Given the description of an element on the screen output the (x, y) to click on. 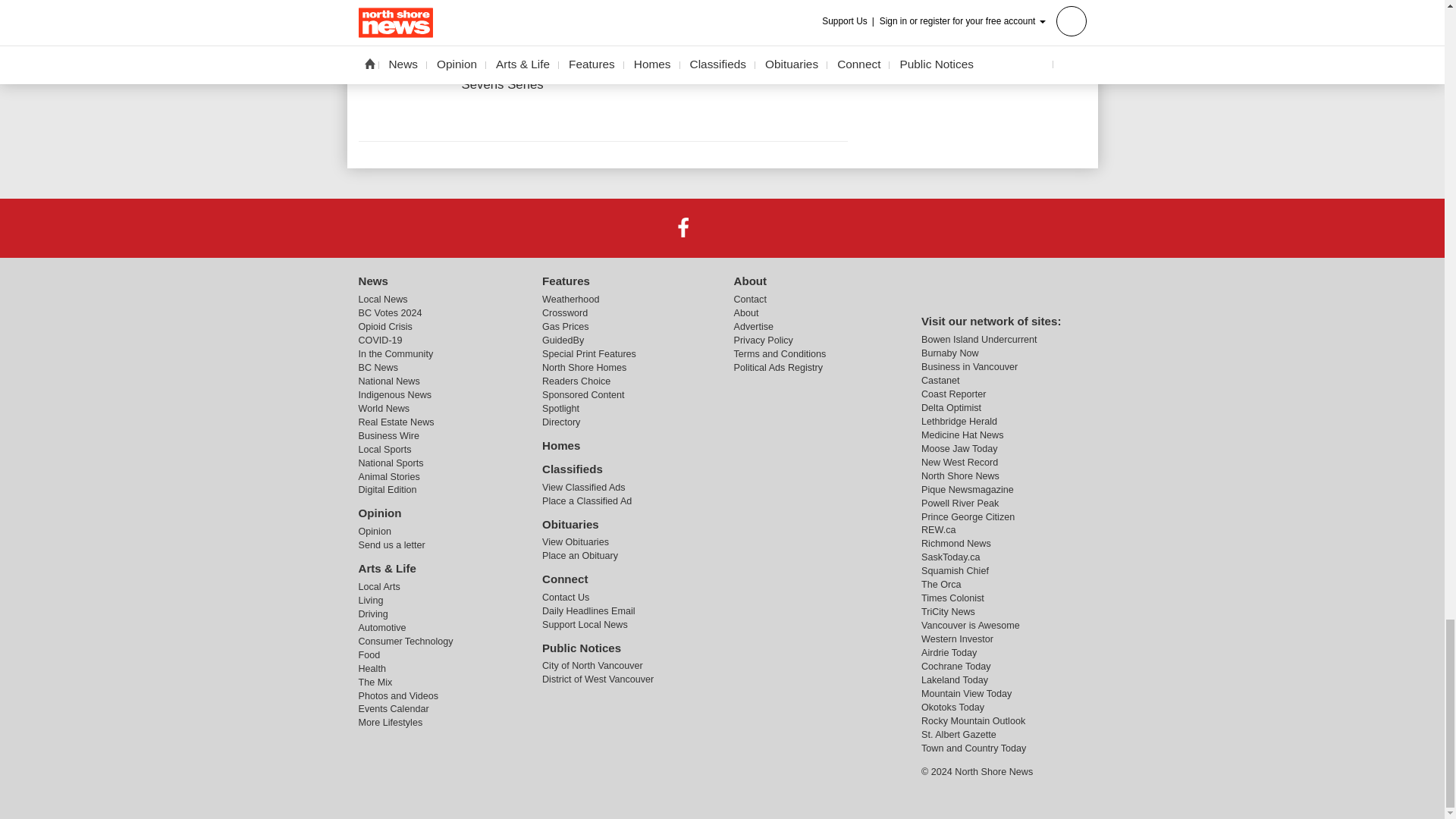
X (721, 226)
Facebook (683, 226)
Instagram (760, 226)
